Given the description of an element on the screen output the (x, y) to click on. 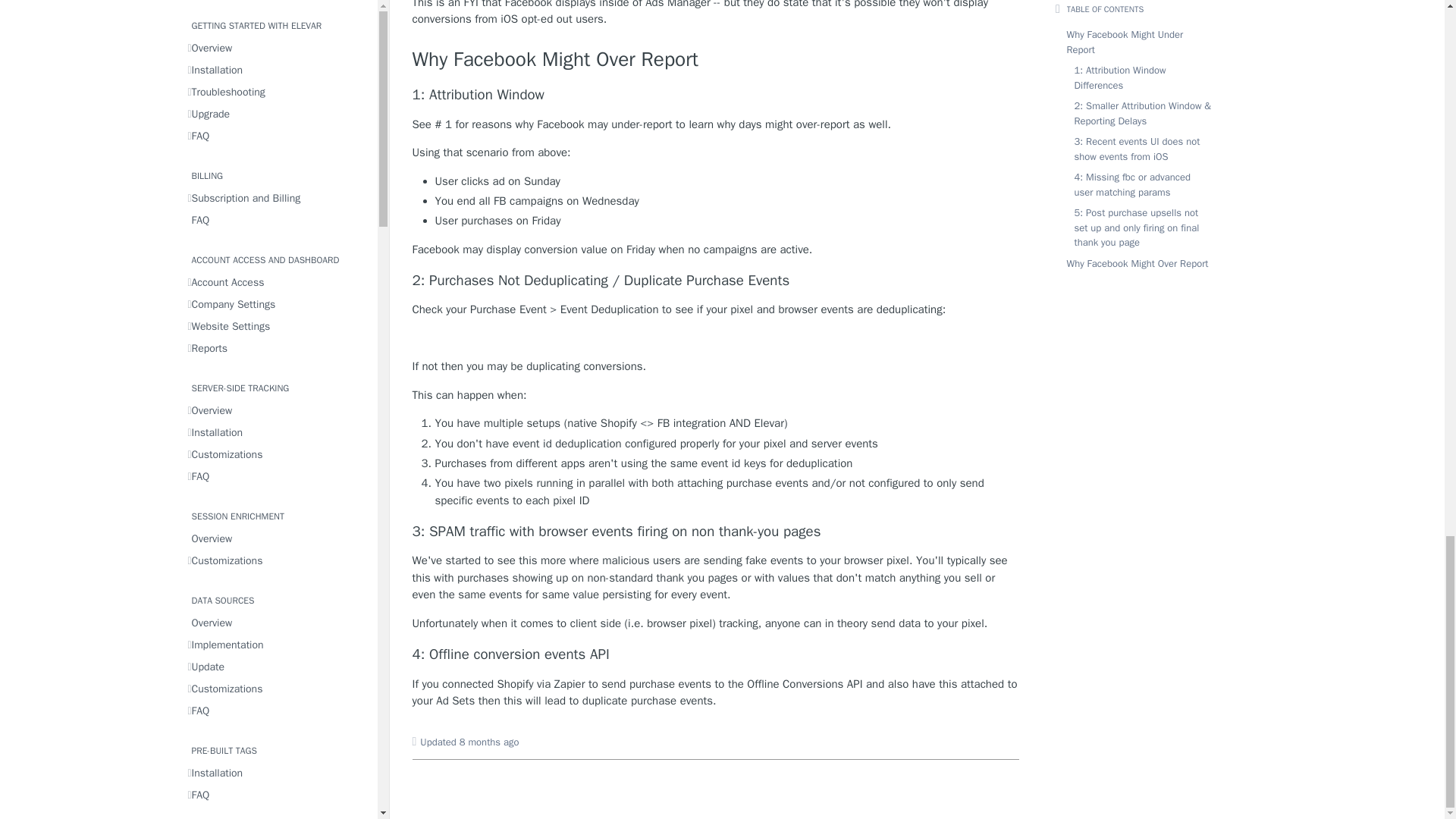
4: Offline conversion events API (715, 654)
Why Facebook Might Over Report (715, 59)
1: Attribution Window (715, 95)
